Given the description of an element on the screen output the (x, y) to click on. 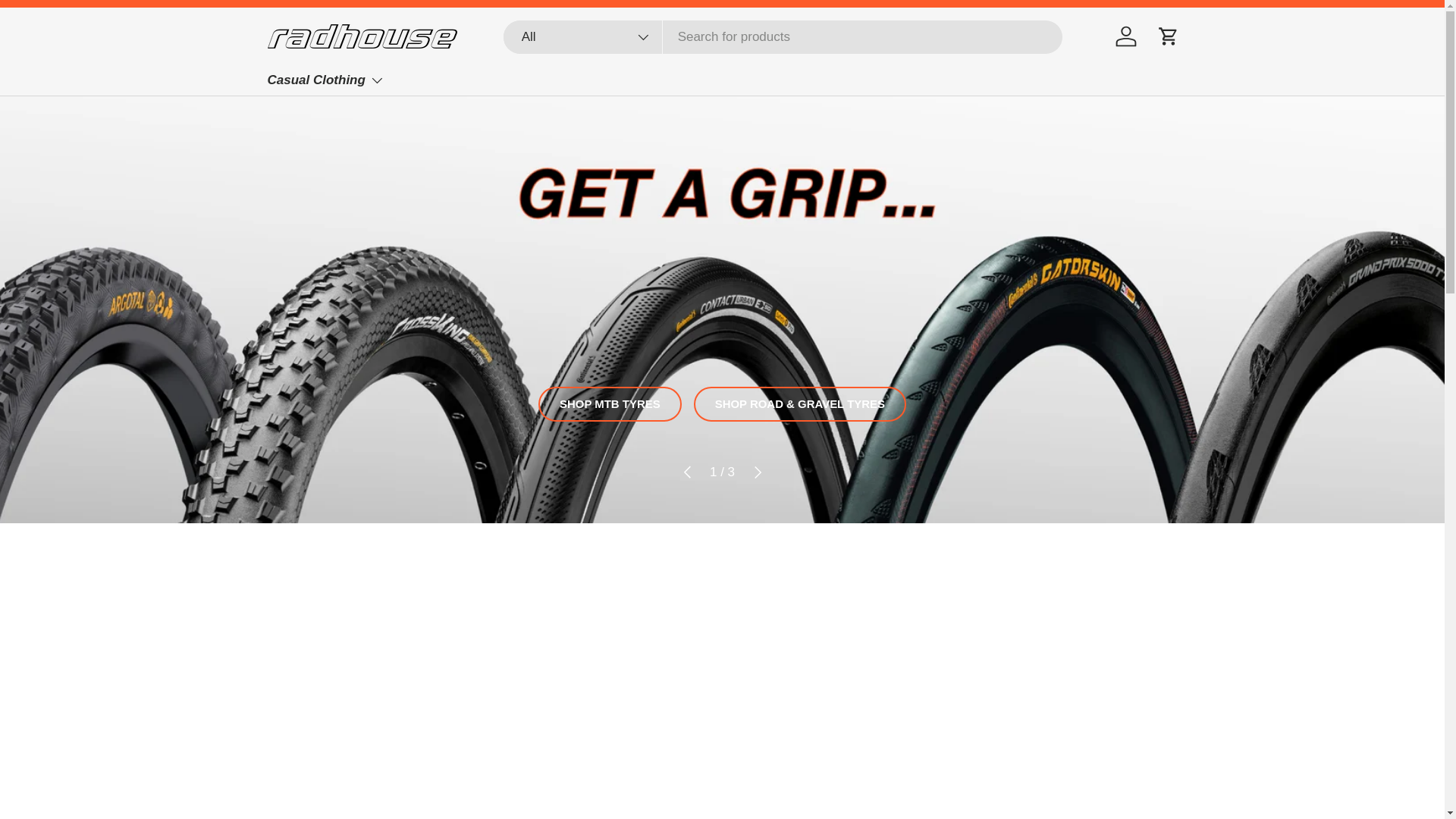
Log in (1124, 36)
Casual Clothing (325, 80)
Skip to content (69, 21)
SHOP MTB TYRES (609, 403)
Cart (1168, 36)
All (582, 36)
Next (756, 471)
Previous (686, 471)
